Given the description of an element on the screen output the (x, y) to click on. 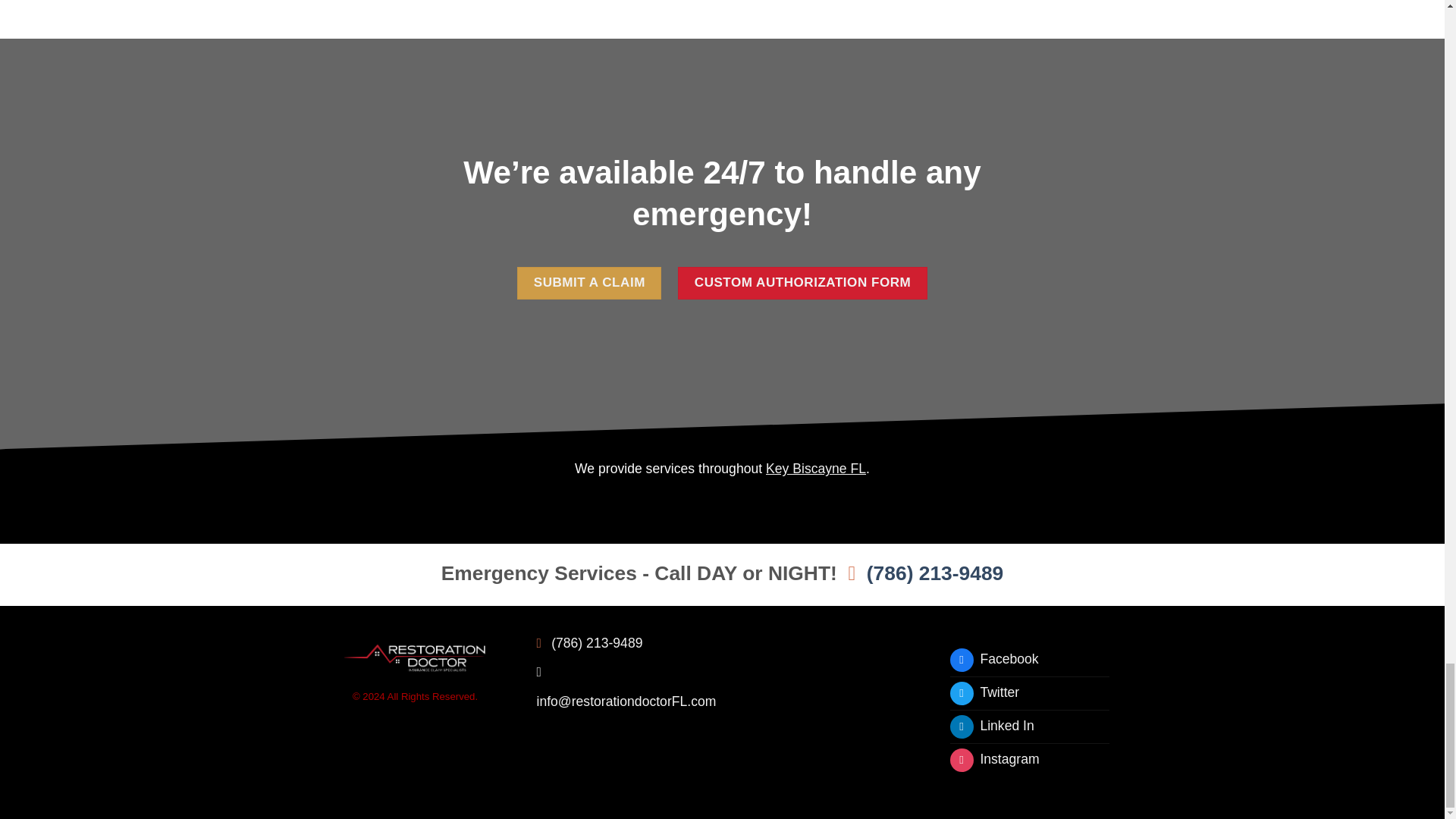
Instagram (994, 759)
Linked In (991, 726)
Twitter (984, 693)
SUBMIT A CLAIM (588, 282)
Linked In (991, 726)
Key Biscayne FL (815, 468)
Facebook (993, 659)
CUSTOM AUTHORIZATION FORM (802, 282)
Twitter (984, 693)
Instagram (994, 759)
Facebook (993, 659)
